Given the description of an element on the screen output the (x, y) to click on. 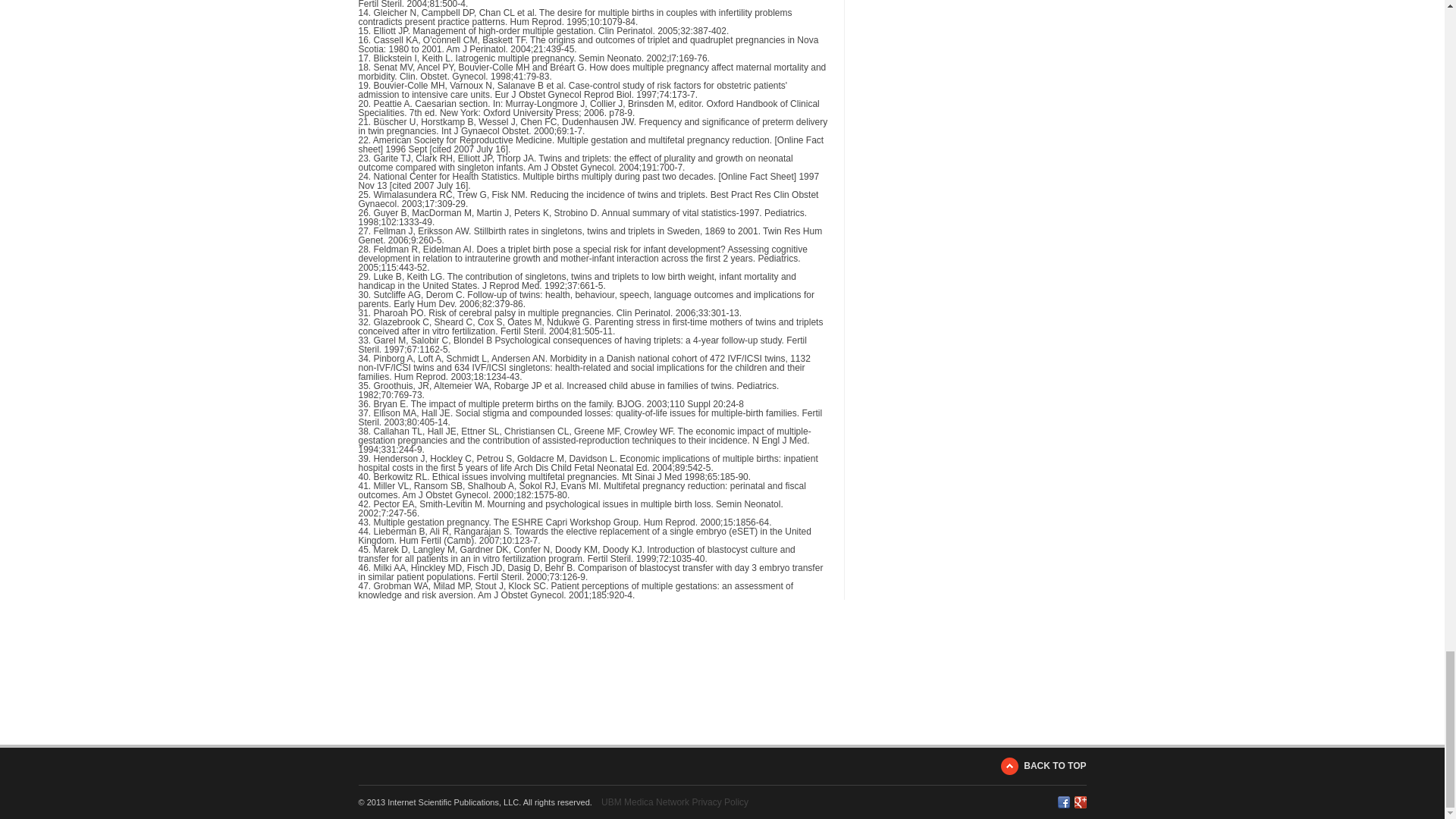
Google Plus (1080, 802)
BACK TO TOP (1043, 765)
UBM Medica Network Privacy Policy (674, 801)
Facebook (1062, 802)
